Given the description of an element on the screen output the (x, y) to click on. 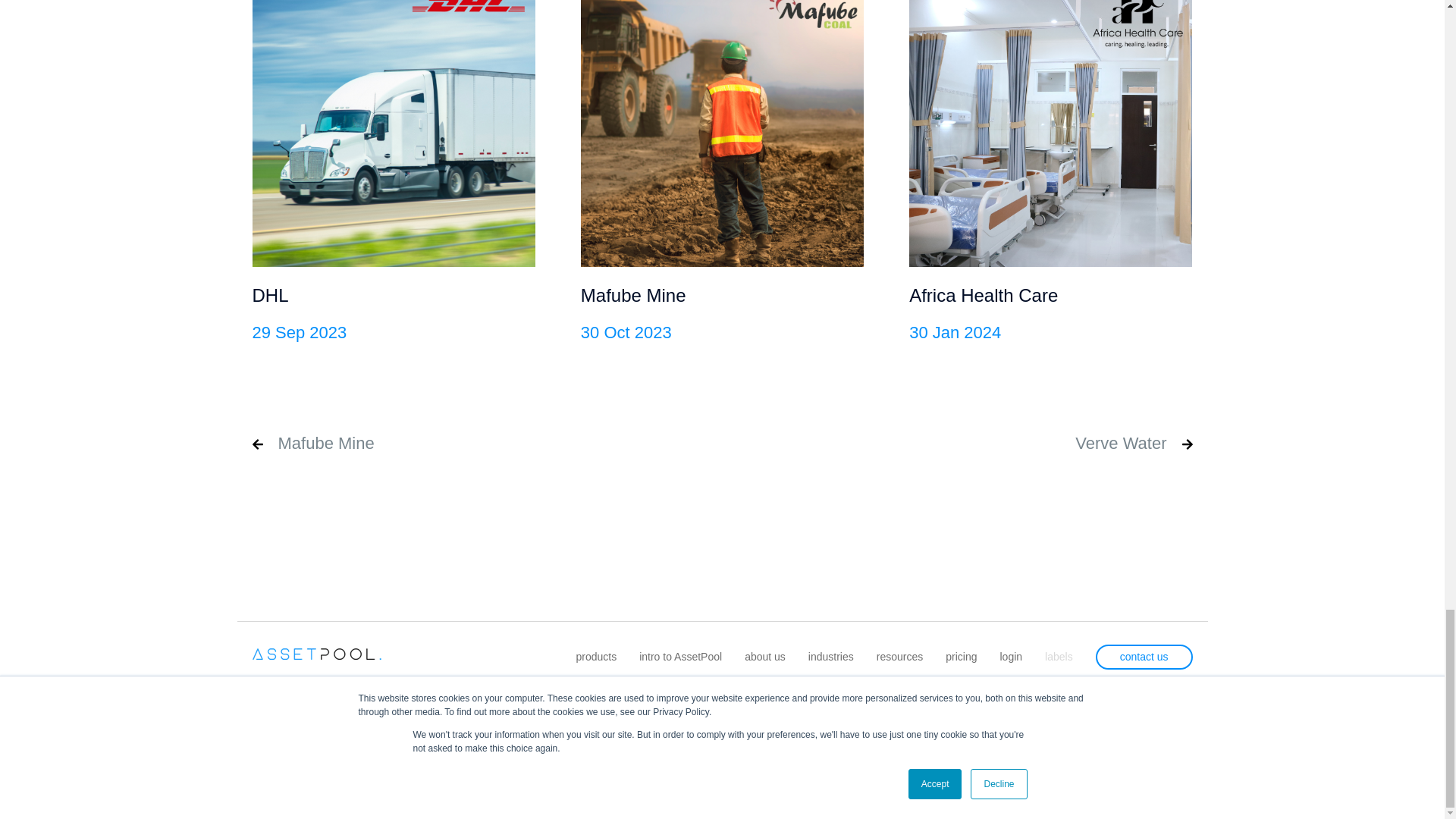
AssetPool Smart Inspection Software (315, 654)
